Given the description of an element on the screen output the (x, y) to click on. 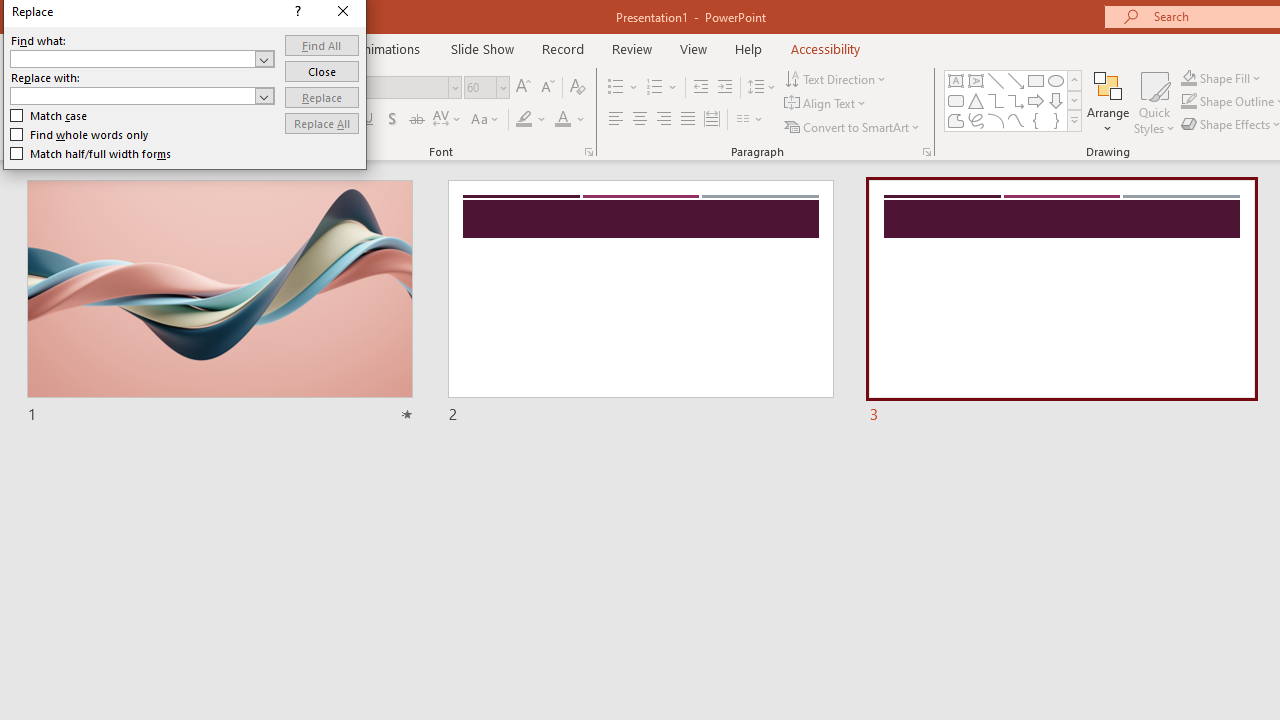
Find what (142, 58)
Text Highlight Color Yellow (524, 119)
Freeform: Scribble (975, 120)
Arc (995, 120)
Change Case (486, 119)
Decrease Indent (700, 87)
Find All (321, 44)
Align Right (663, 119)
Arrow: Right (1035, 100)
Oval (1055, 80)
